Given the description of an element on the screen output the (x, y) to click on. 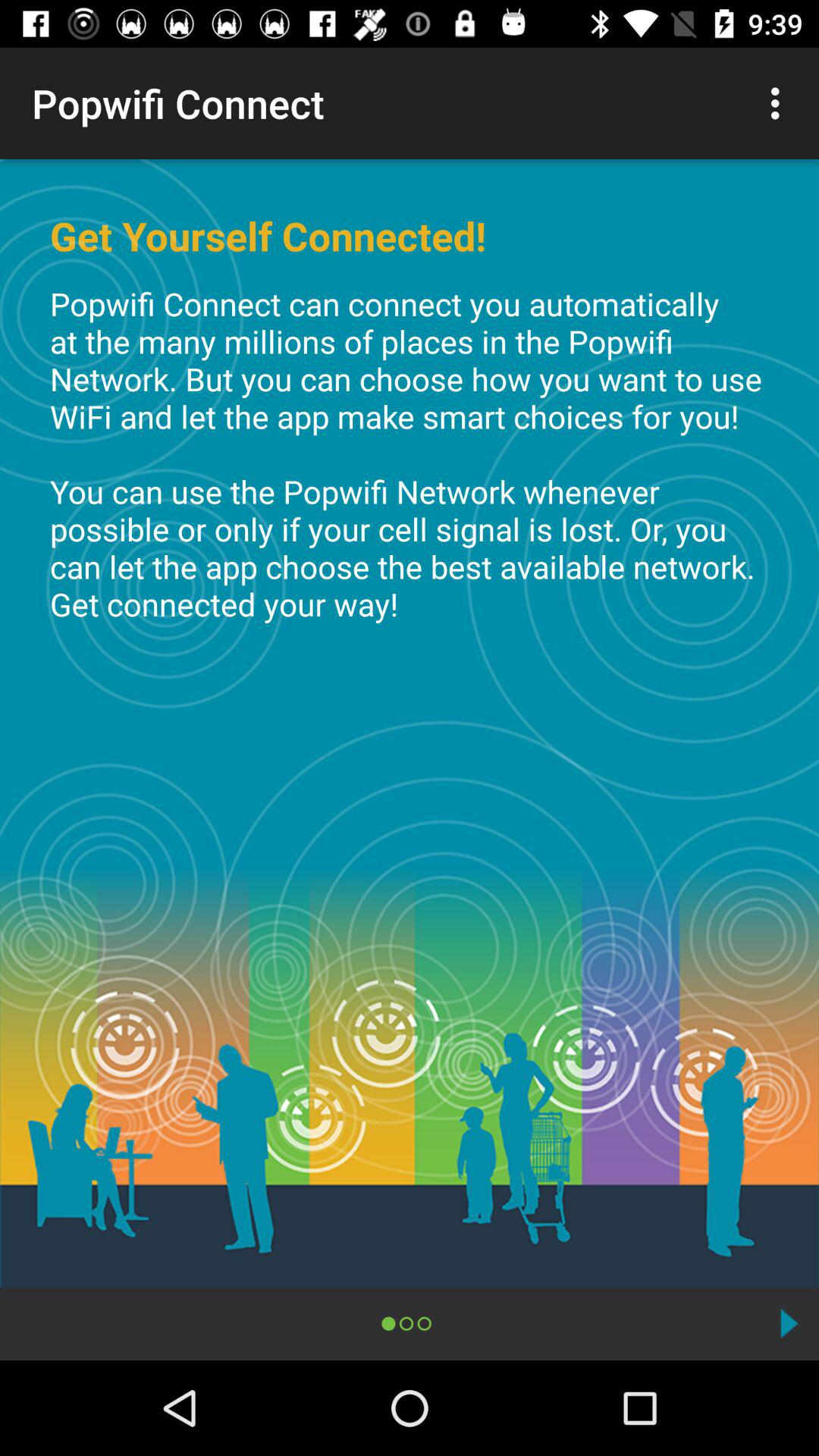
next page (789, 1323)
